Given the description of an element on the screen output the (x, y) to click on. 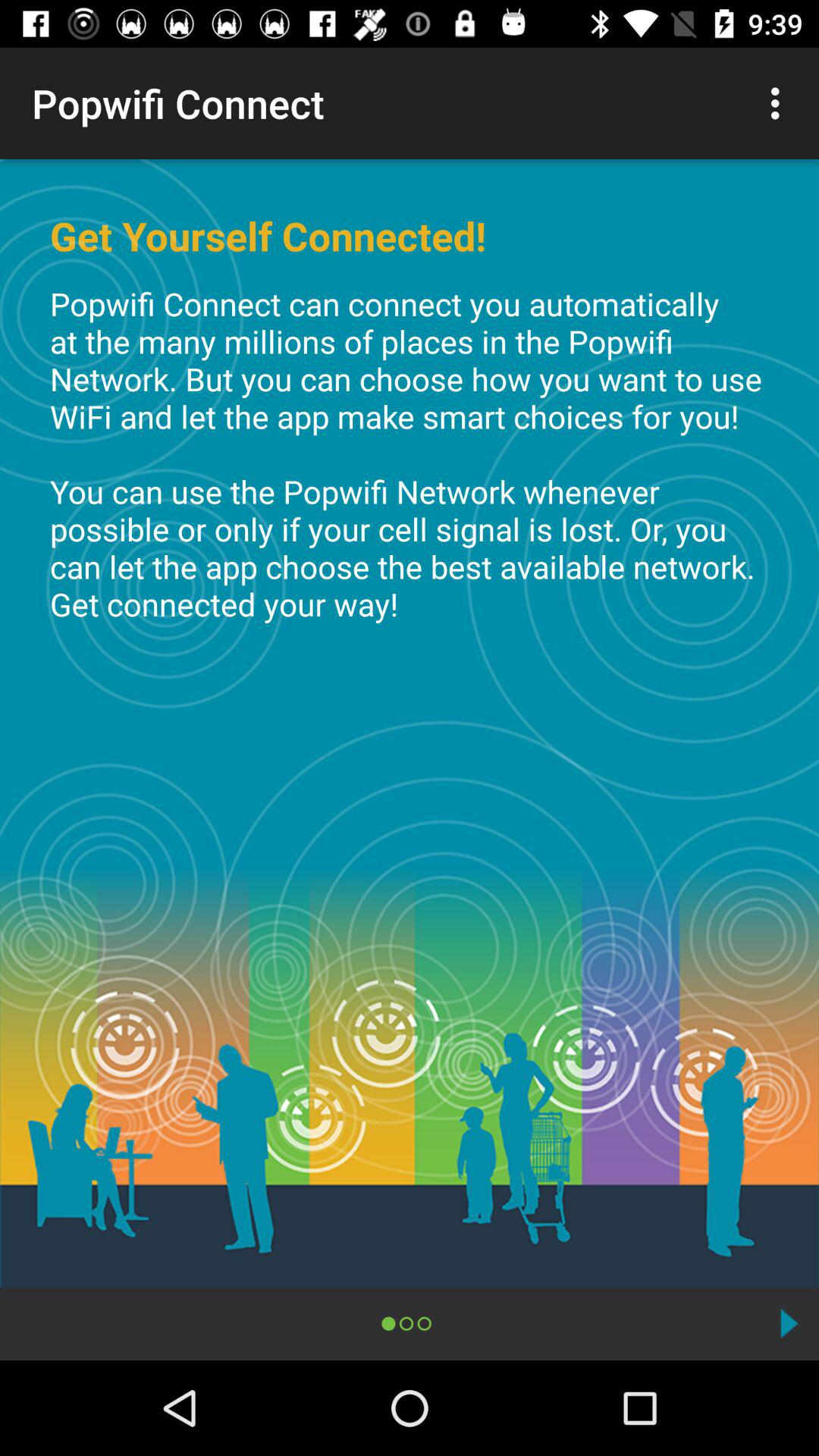
next page (789, 1323)
